Given the description of an element on the screen output the (x, y) to click on. 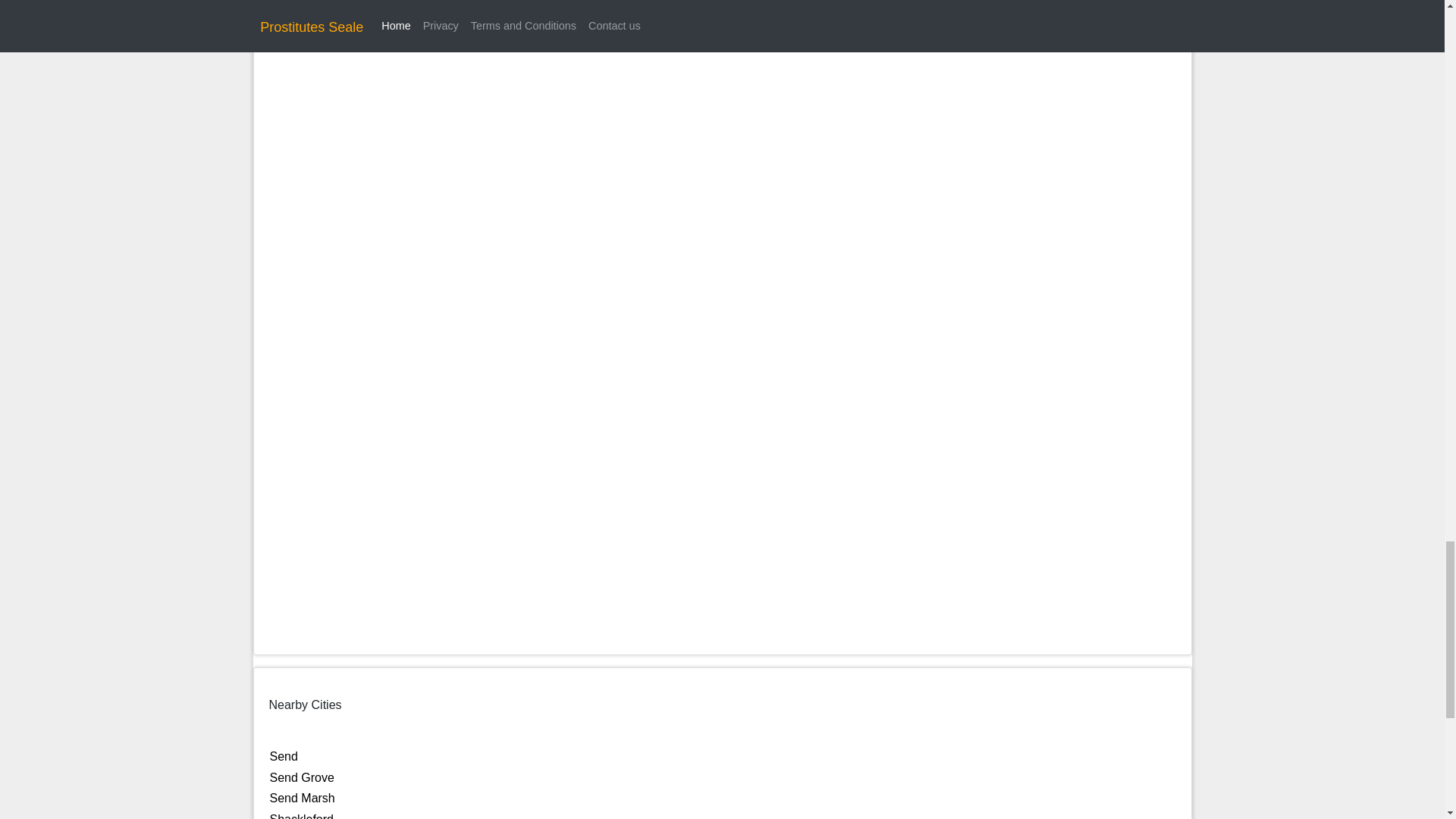
Send (283, 756)
Send Grove (301, 777)
Shackleford (301, 816)
Send Marsh (301, 797)
